Given the description of an element on the screen output the (x, y) to click on. 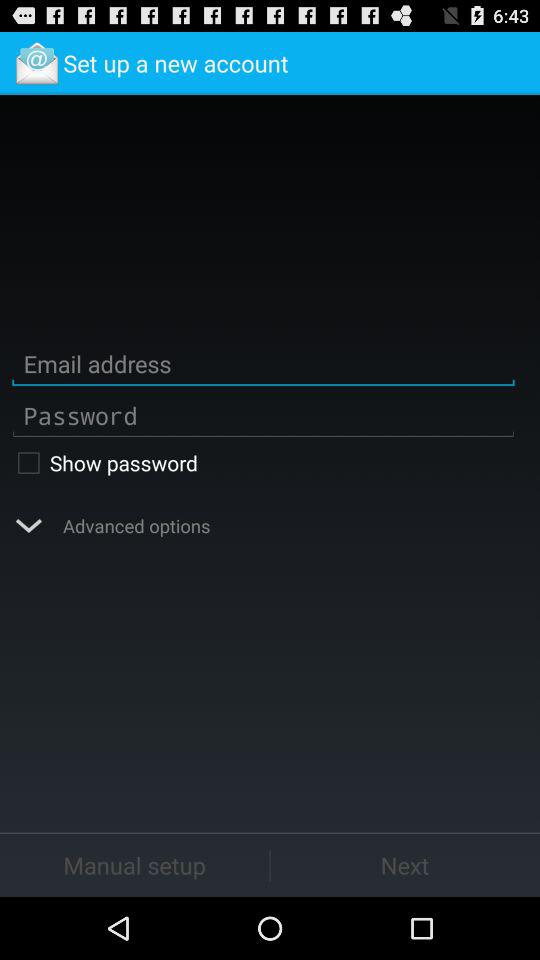
launch button at the bottom left corner (134, 864)
